Given the description of an element on the screen output the (x, y) to click on. 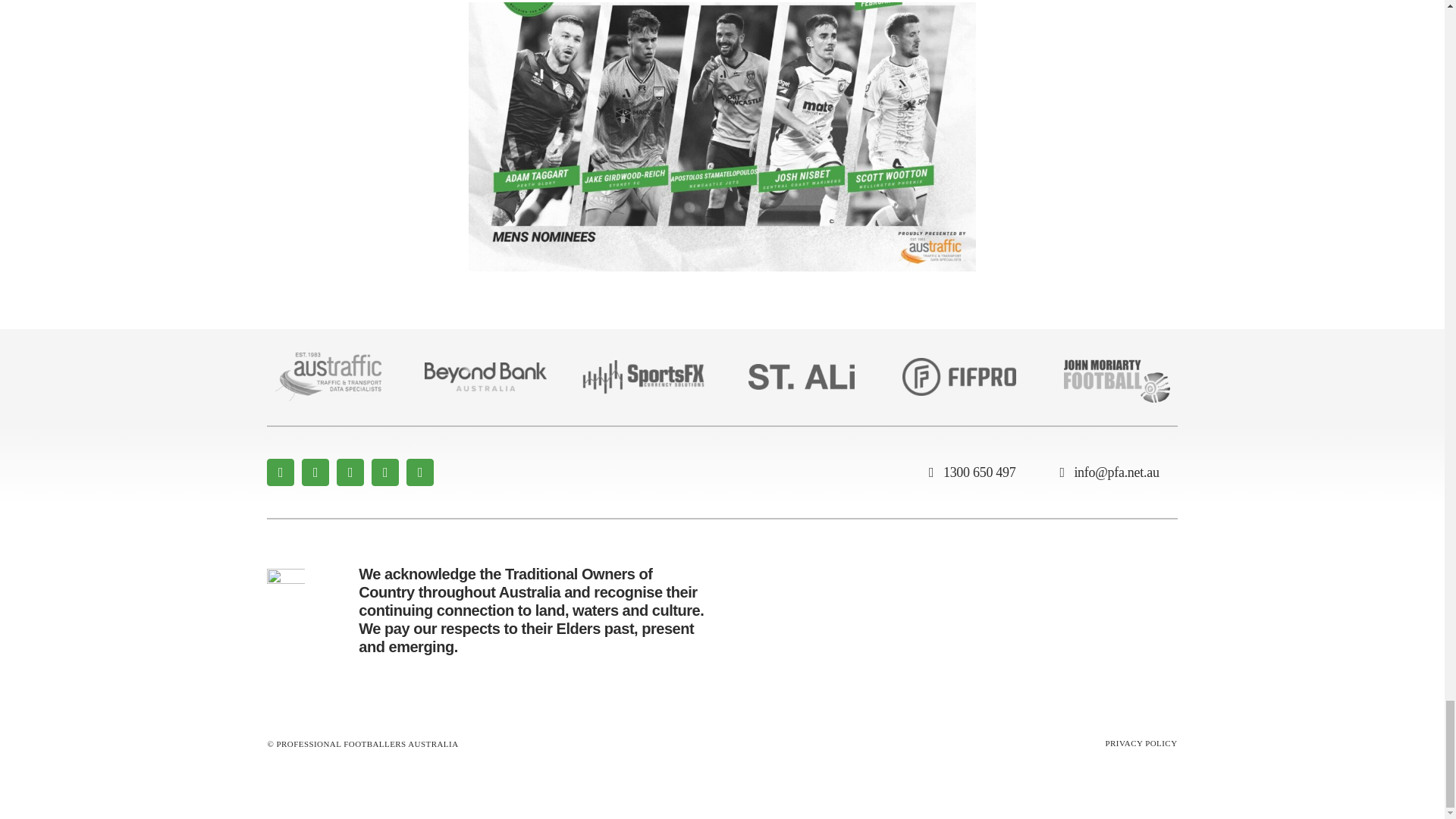
Facebook (280, 472)
LinkedIn (419, 472)
YouTube (384, 472)
Instagram (350, 472)
X (315, 472)
